Given the description of an element on the screen output the (x, y) to click on. 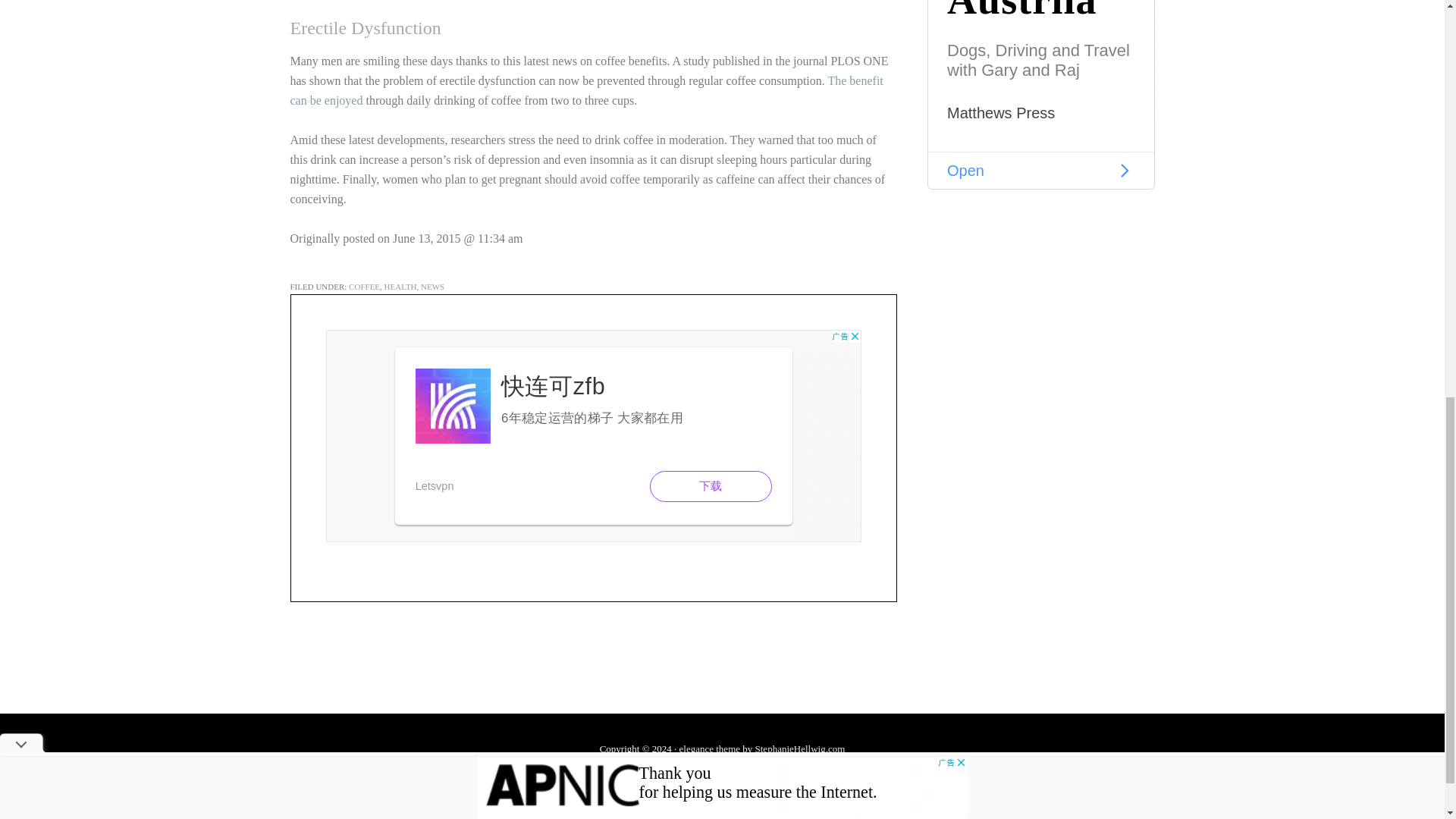
HEALTH (400, 286)
NEWS (432, 286)
The benefit can be enjoyed (585, 90)
StephanieHellwig.com (800, 748)
Advertisement (593, 436)
Advertisement (1040, 94)
COFFEE (364, 286)
elegance theme (709, 748)
